Given the description of an element on the screen output the (x, y) to click on. 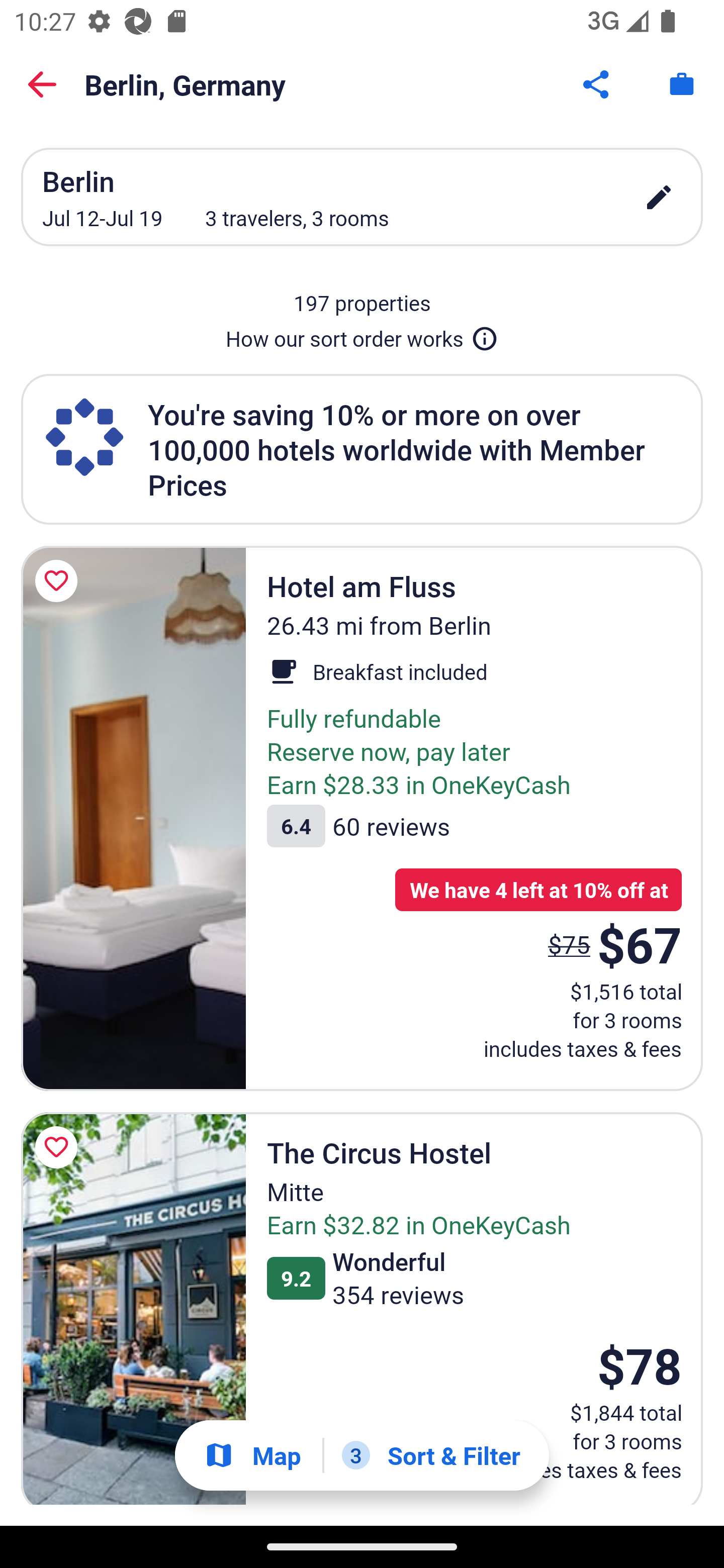
Back (42, 84)
Share Button (597, 84)
Trips. Button (681, 84)
Berlin Jul 12-Jul 19 3 travelers, 3 rooms edit (361, 196)
How our sort order works (361, 334)
Save Hotel am Fluss to a trip (59, 580)
Hotel am Fluss (133, 818)
$75 The price was $75 (569, 943)
Save The Circus Hostel to a trip (59, 1147)
The Circus Hostel (133, 1308)
3 Sort & Filter 3 Filters applied. Filters Button (430, 1455)
Show map Map Show map Button (252, 1455)
